Given the description of an element on the screen output the (x, y) to click on. 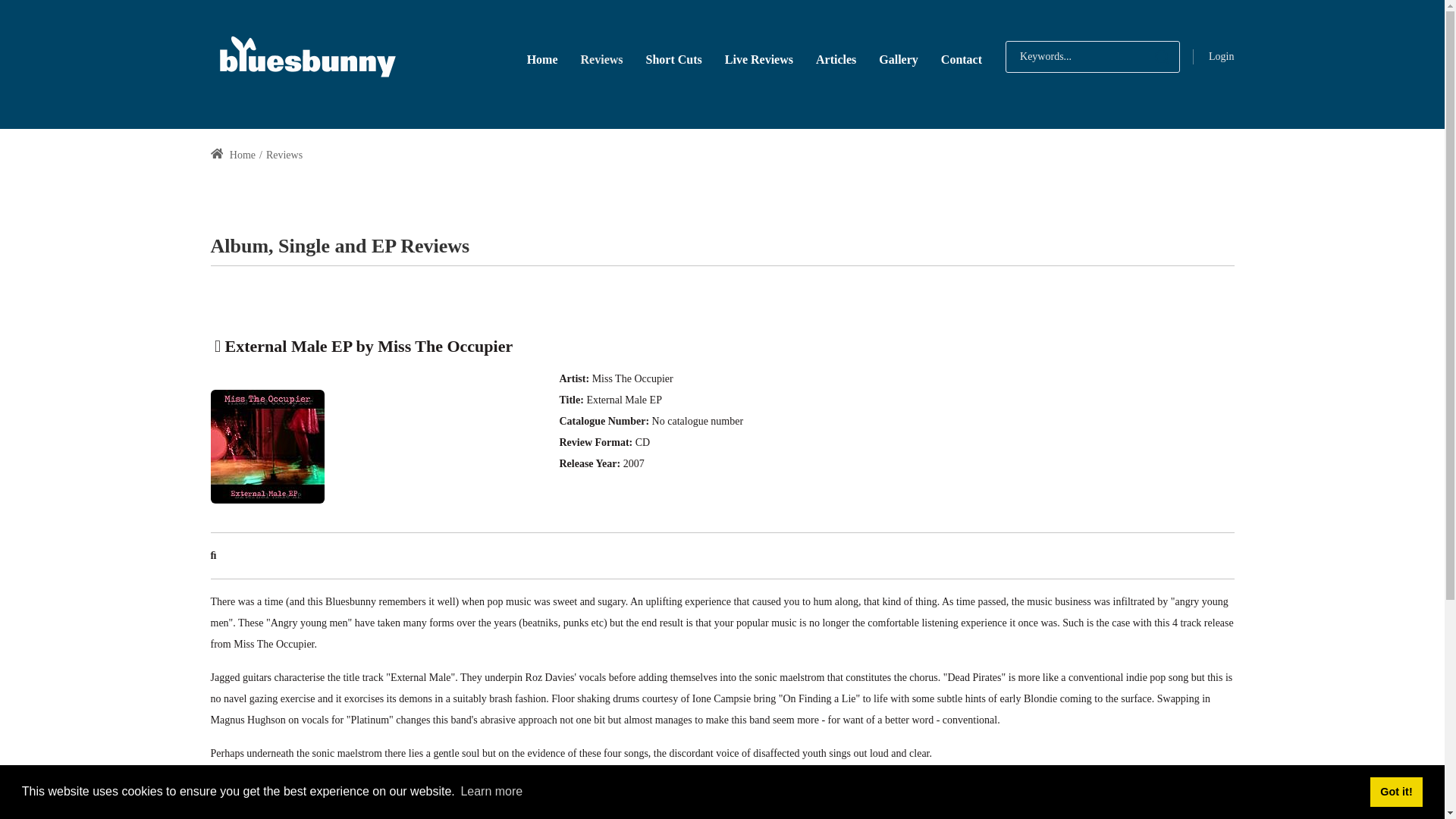
Contact (961, 56)
Login (1220, 56)
Home (233, 154)
Articles (836, 56)
Short Cuts (673, 56)
Live Reviews (759, 56)
Bluesbunny Independent Music Reviews (305, 56)
www.misstheoccupier.com (273, 799)
Search (1161, 56)
Gallery (898, 56)
